Given the description of an element on the screen output the (x, y) to click on. 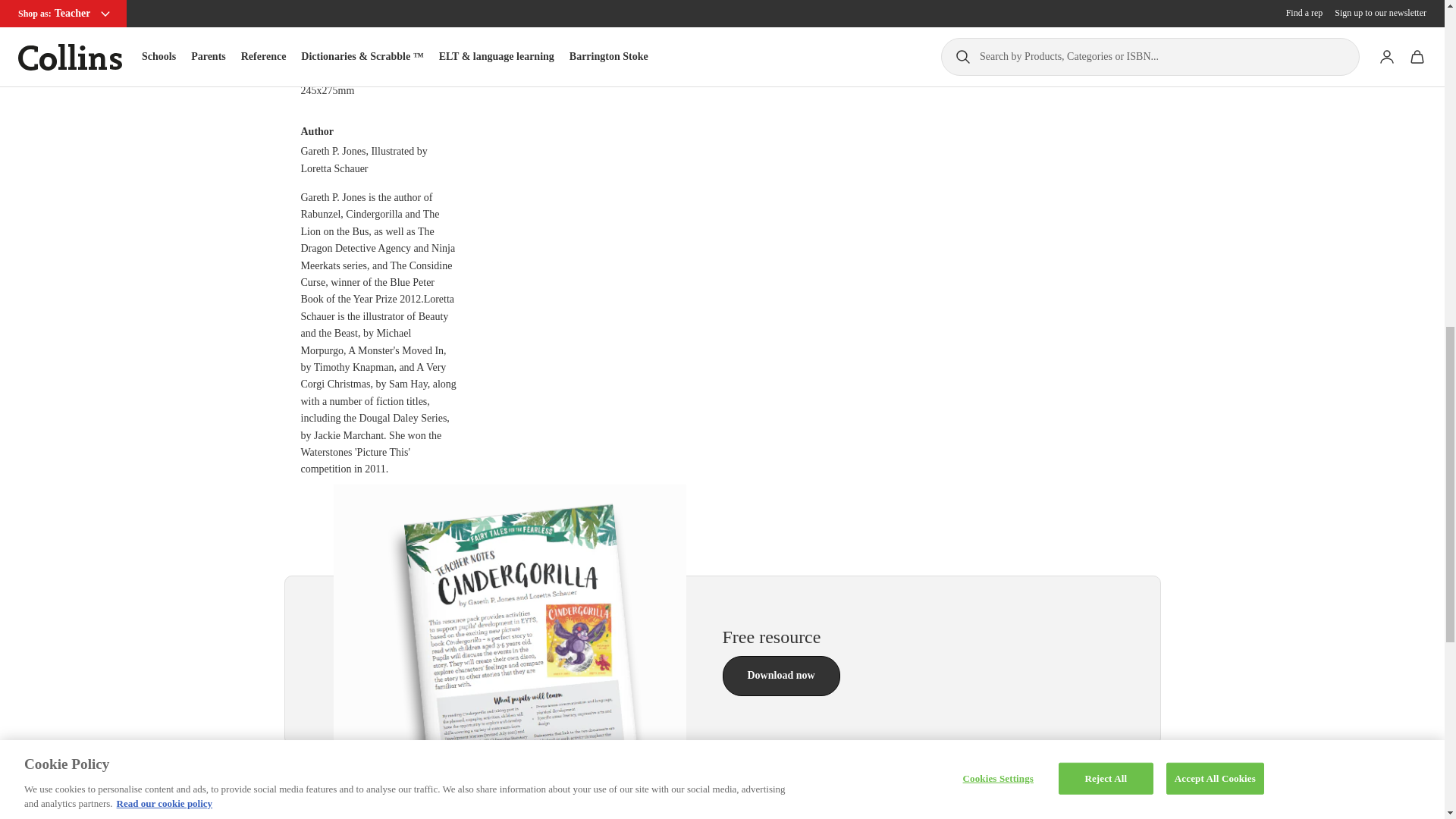
Download now (781, 675)
